Given the description of an element on the screen output the (x, y) to click on. 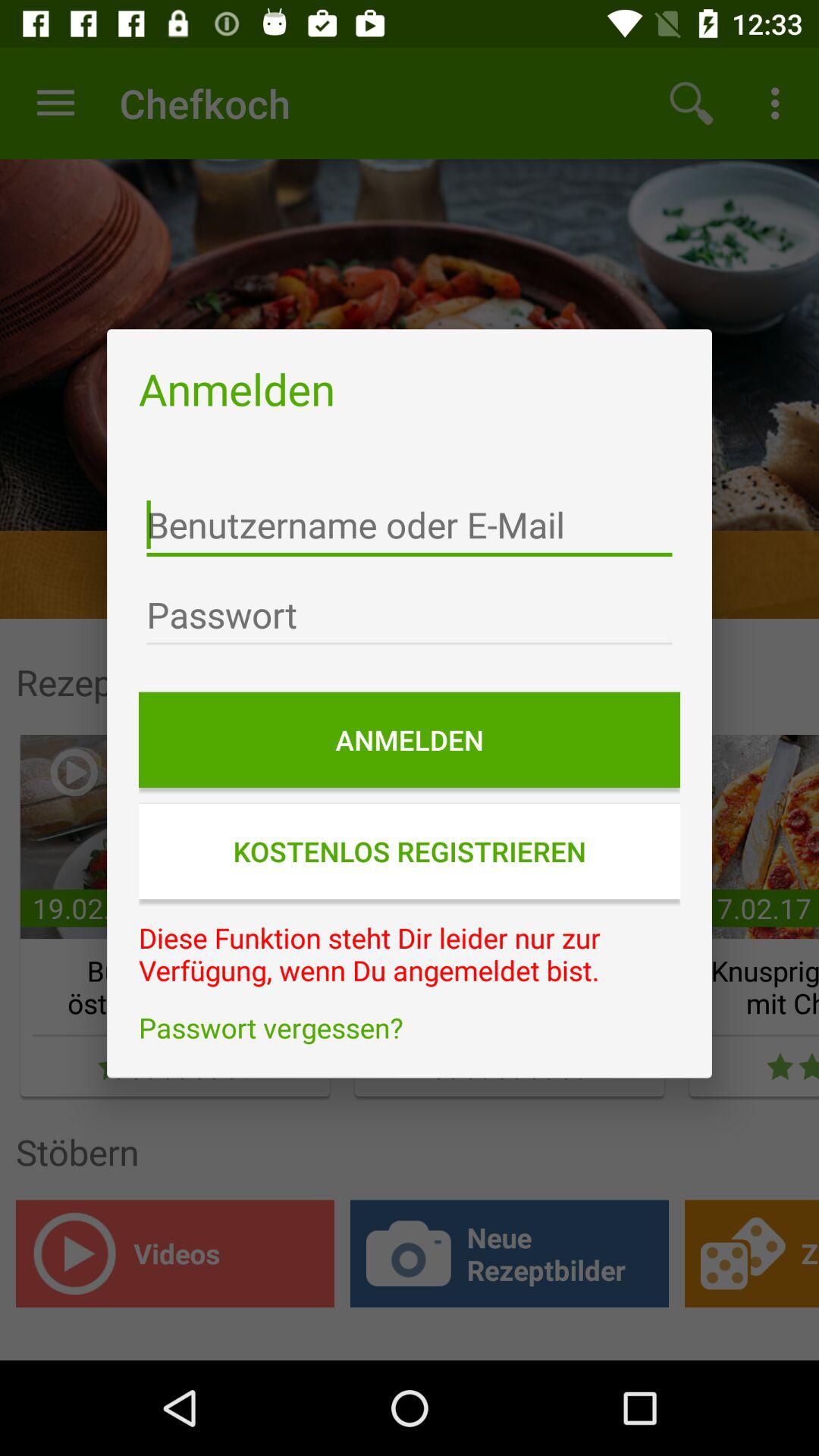
open icon below the anmelden icon (409, 851)
